Given the description of an element on the screen output the (x, y) to click on. 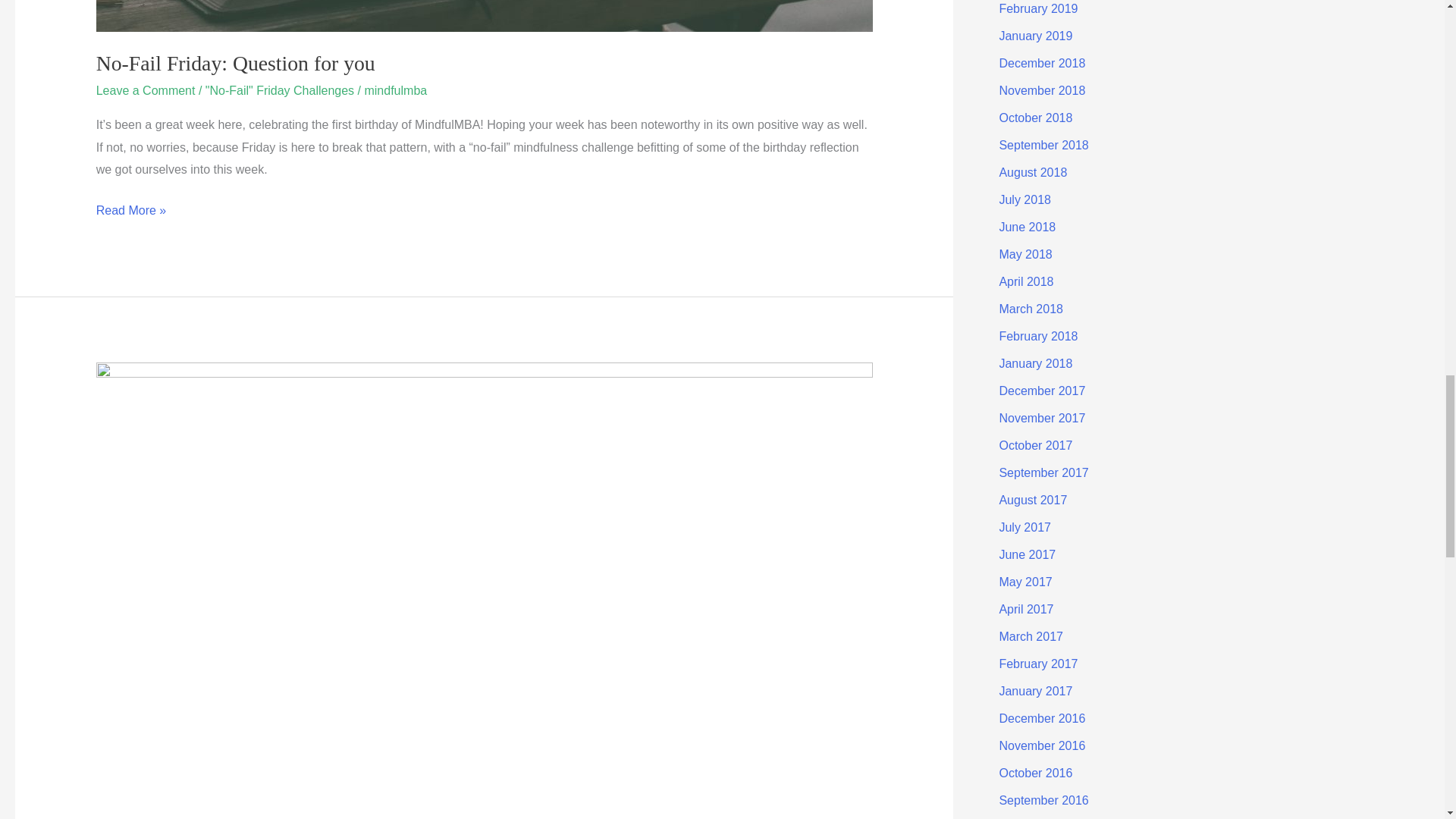
No-Fail Friday: Question for you (235, 63)
View all posts by mindfulmba (395, 90)
